Given the description of an element on the screen output the (x, y) to click on. 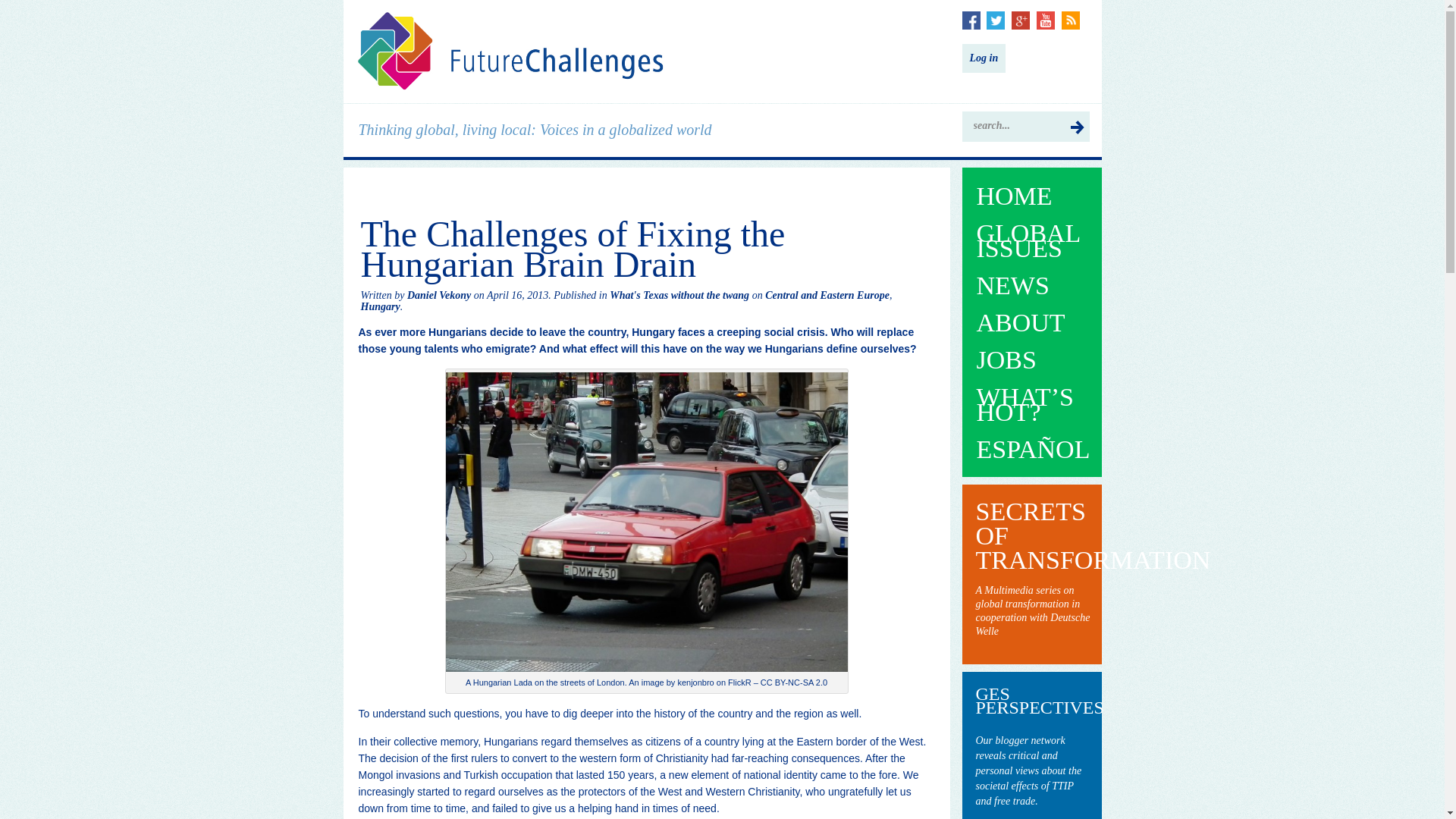
Twitter (995, 20)
Facebook (969, 20)
Reset (3, 2)
Read all posts in What's Texas without the twang (679, 295)
Daniel Vekony (438, 295)
Blogposts associated with the Global Economic Symposium (1032, 771)
Subscribe to our Feed (1070, 20)
Central and Eastern Europe (827, 295)
Posts by Daniel Vekony (438, 295)
What's Texas without the twang (679, 295)
